Given the description of an element on the screen output the (x, y) to click on. 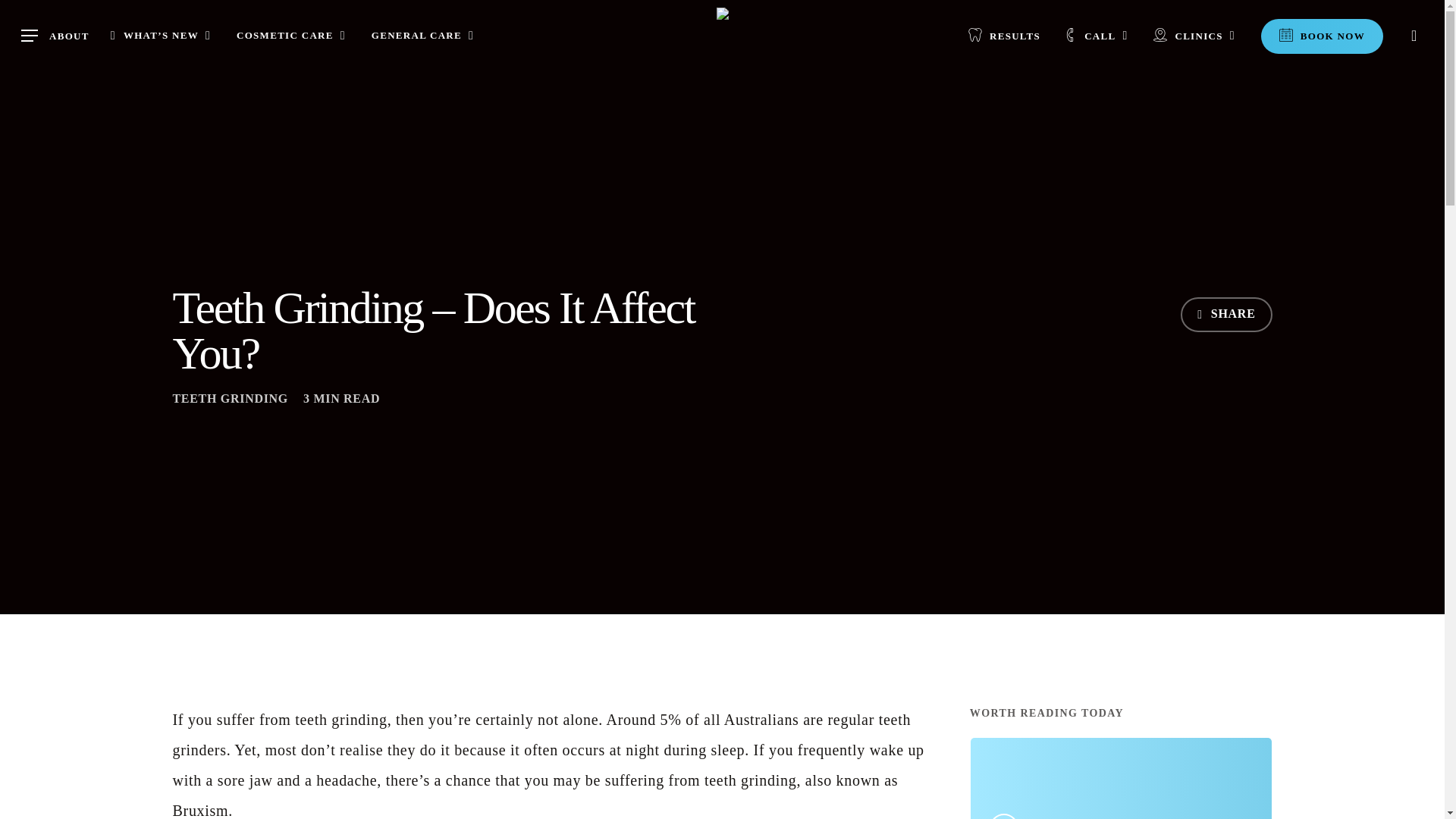
RESULTS (1004, 35)
COSMETIC CARE (292, 35)
CALL (1096, 35)
GENERAL CARE (424, 35)
ABOUT (54, 35)
